Given the description of an element on the screen output the (x, y) to click on. 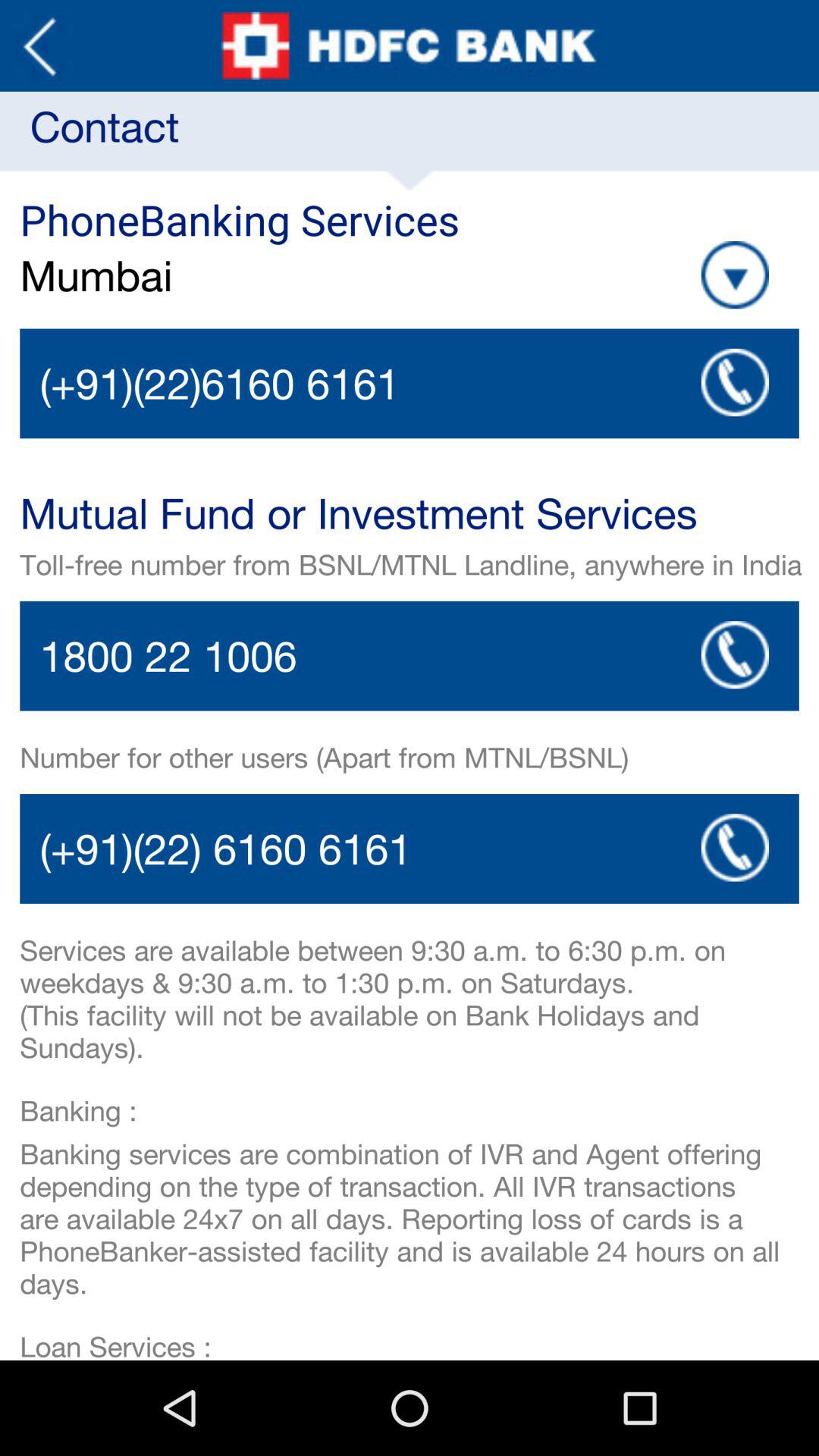
shows call icon (734, 847)
